Given the description of an element on the screen output the (x, y) to click on. 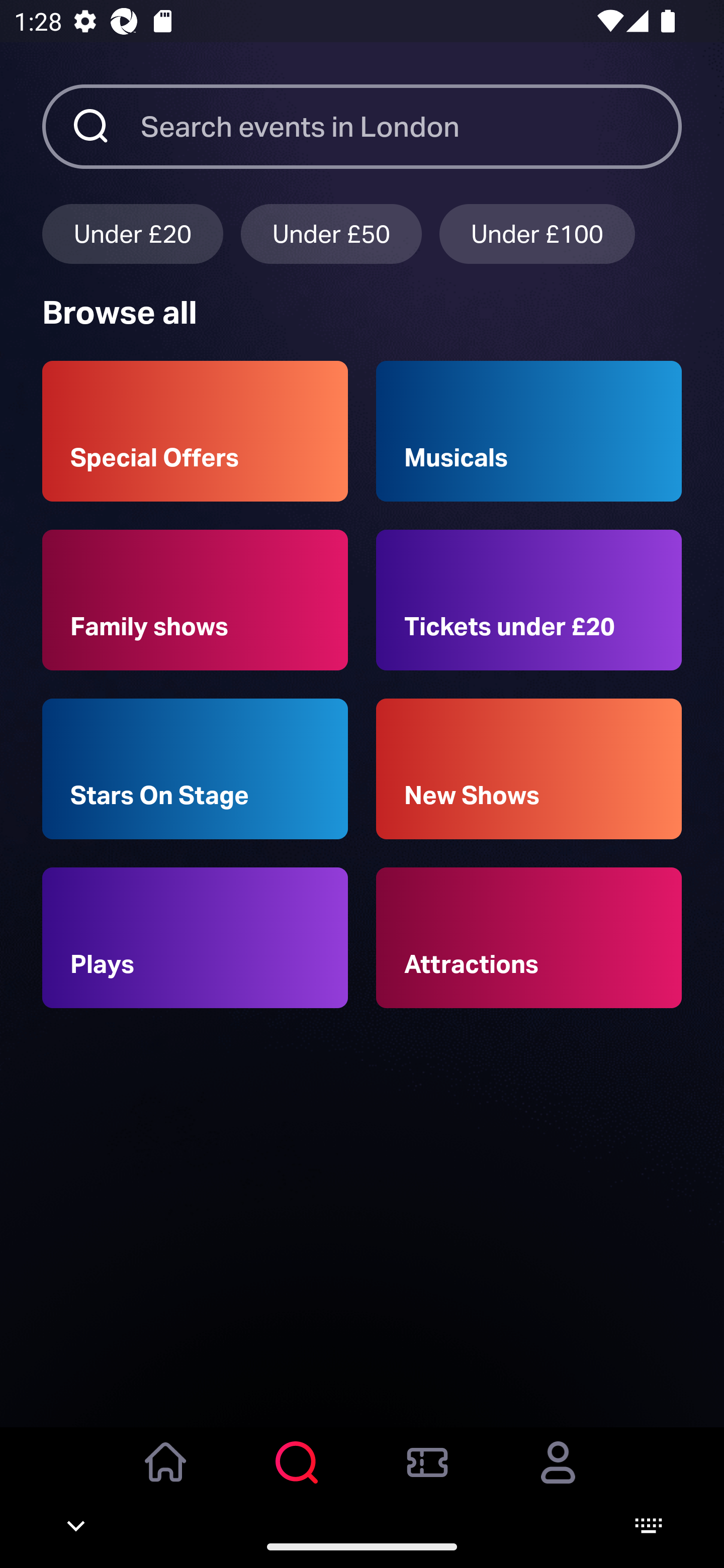
Search events in London (411, 126)
Under £20 (131, 233)
Under £50 (331, 233)
Under £100 (536, 233)
Special Offers (194, 430)
Musicals (528, 430)
Family shows (194, 600)
Tickets under £20  (528, 600)
Stars On Stage (194, 768)
New Shows (528, 768)
Plays (194, 937)
Attractions  (528, 937)
Home (165, 1475)
Orders (427, 1475)
Account (558, 1475)
